Given the description of an element on the screen output the (x, y) to click on. 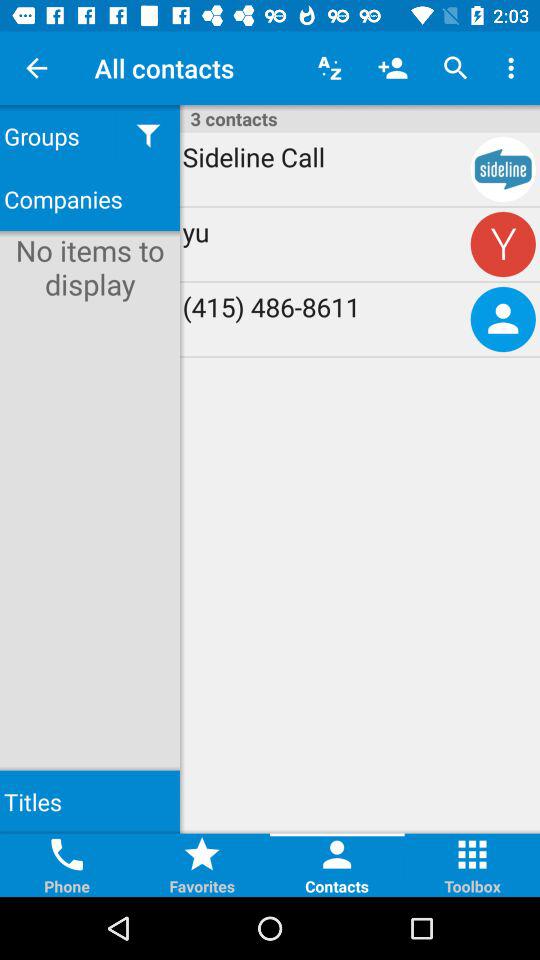
click the icon above groups item (36, 68)
